Given the description of an element on the screen output the (x, y) to click on. 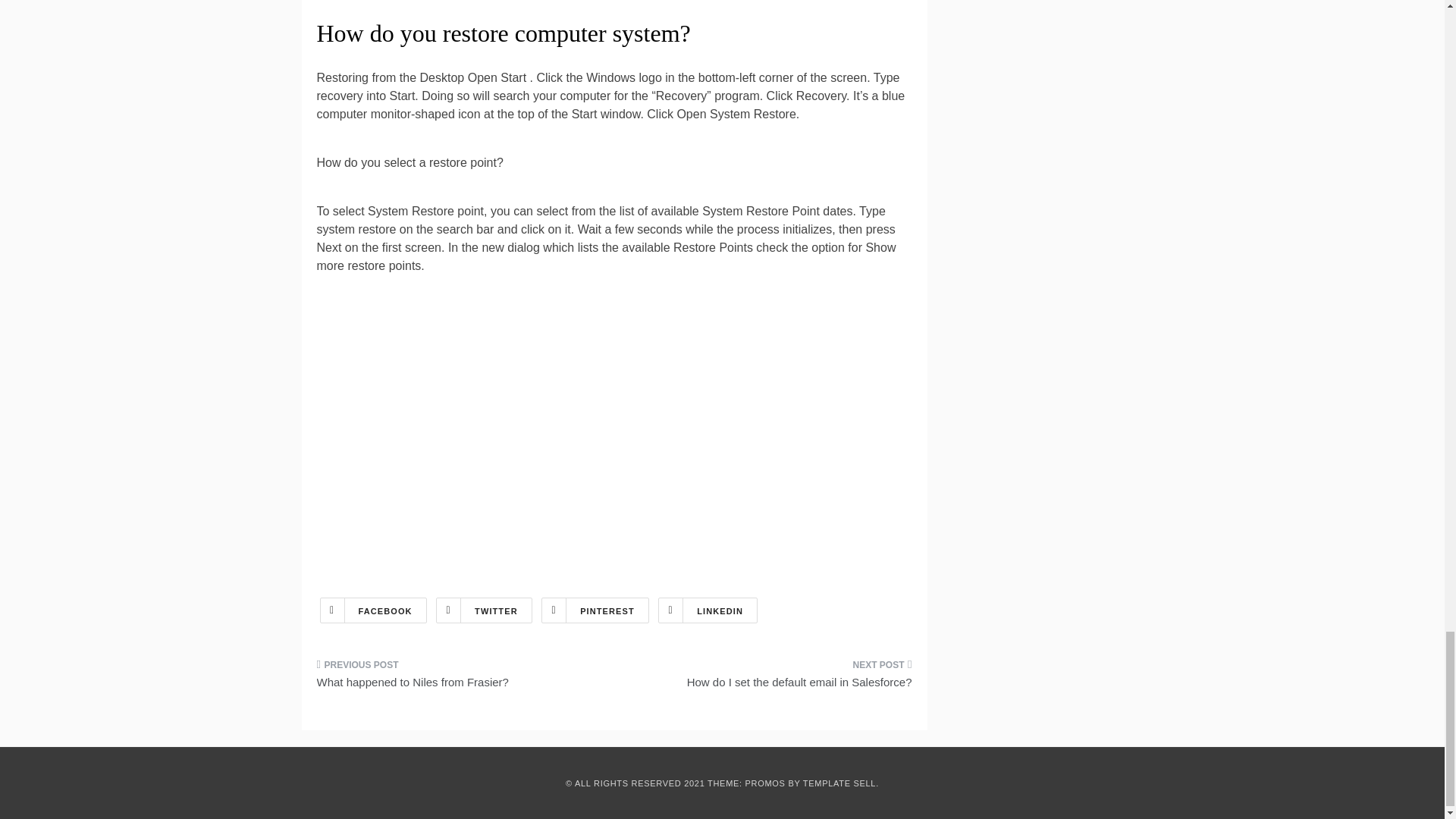
TWITTER (483, 610)
TEMPLATE SELL (839, 782)
PINTEREST (595, 610)
LINKEDIN (707, 610)
FACEBOOK (373, 610)
How to use recovery mode on Ubuntu (559, 441)
How do I set the default email in Salesforce? (769, 678)
What happened to Niles from Frasier? (460, 678)
